Given the description of an element on the screen output the (x, y) to click on. 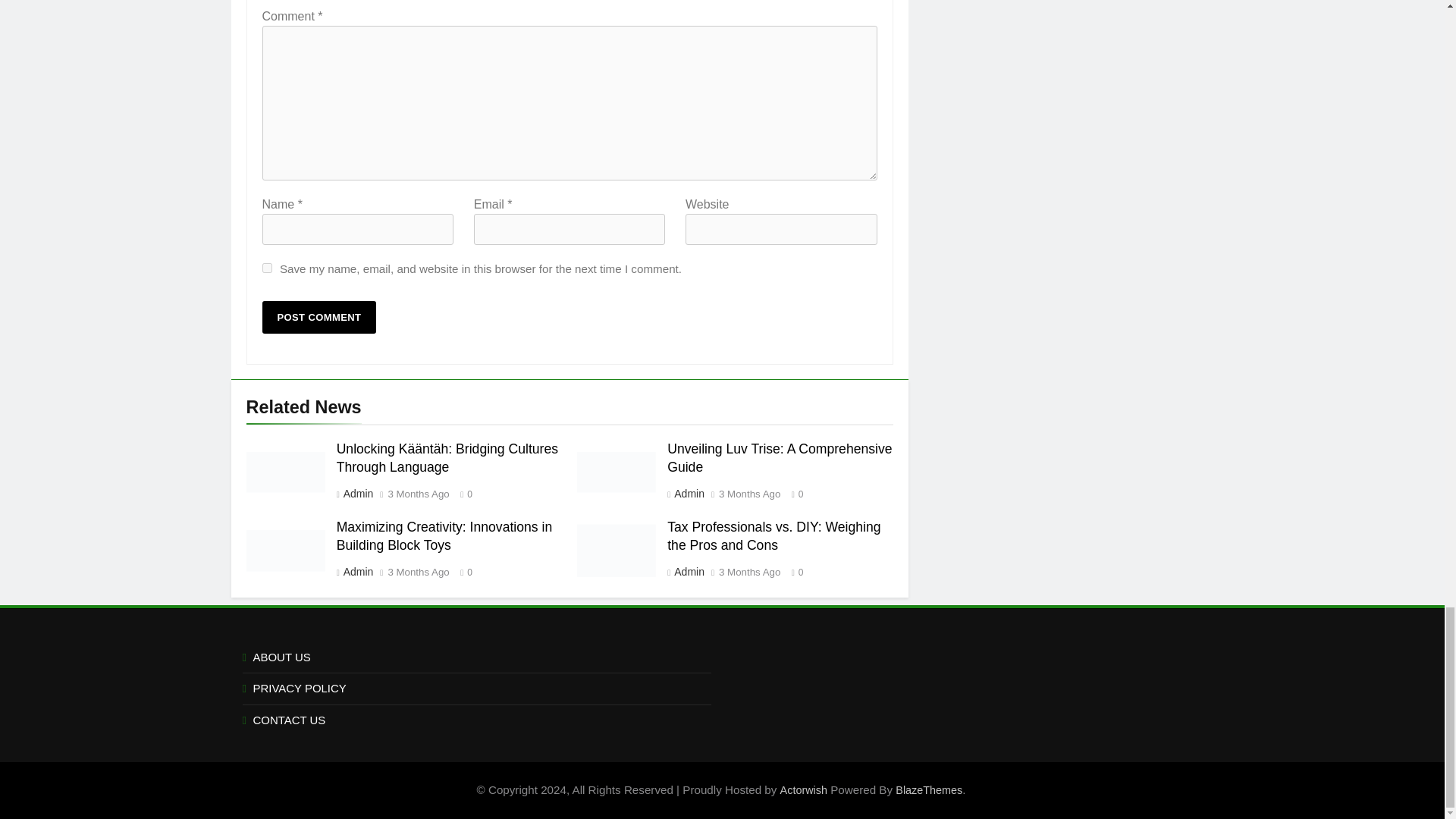
Post Comment (319, 317)
yes (267, 267)
